Given the description of an element on the screen output the (x, y) to click on. 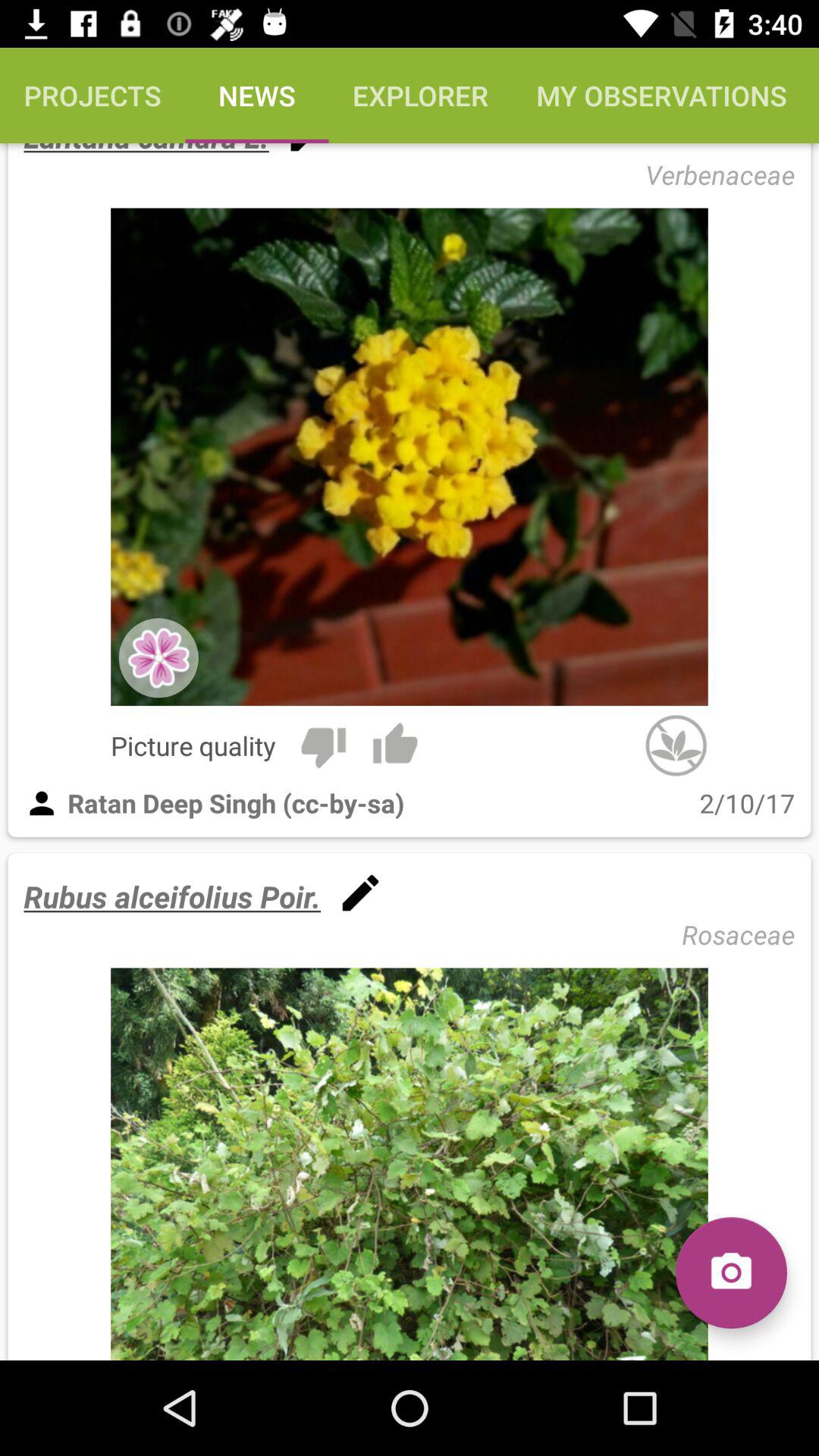
launch lantana camara l. item (146, 149)
